Given the description of an element on the screen output the (x, y) to click on. 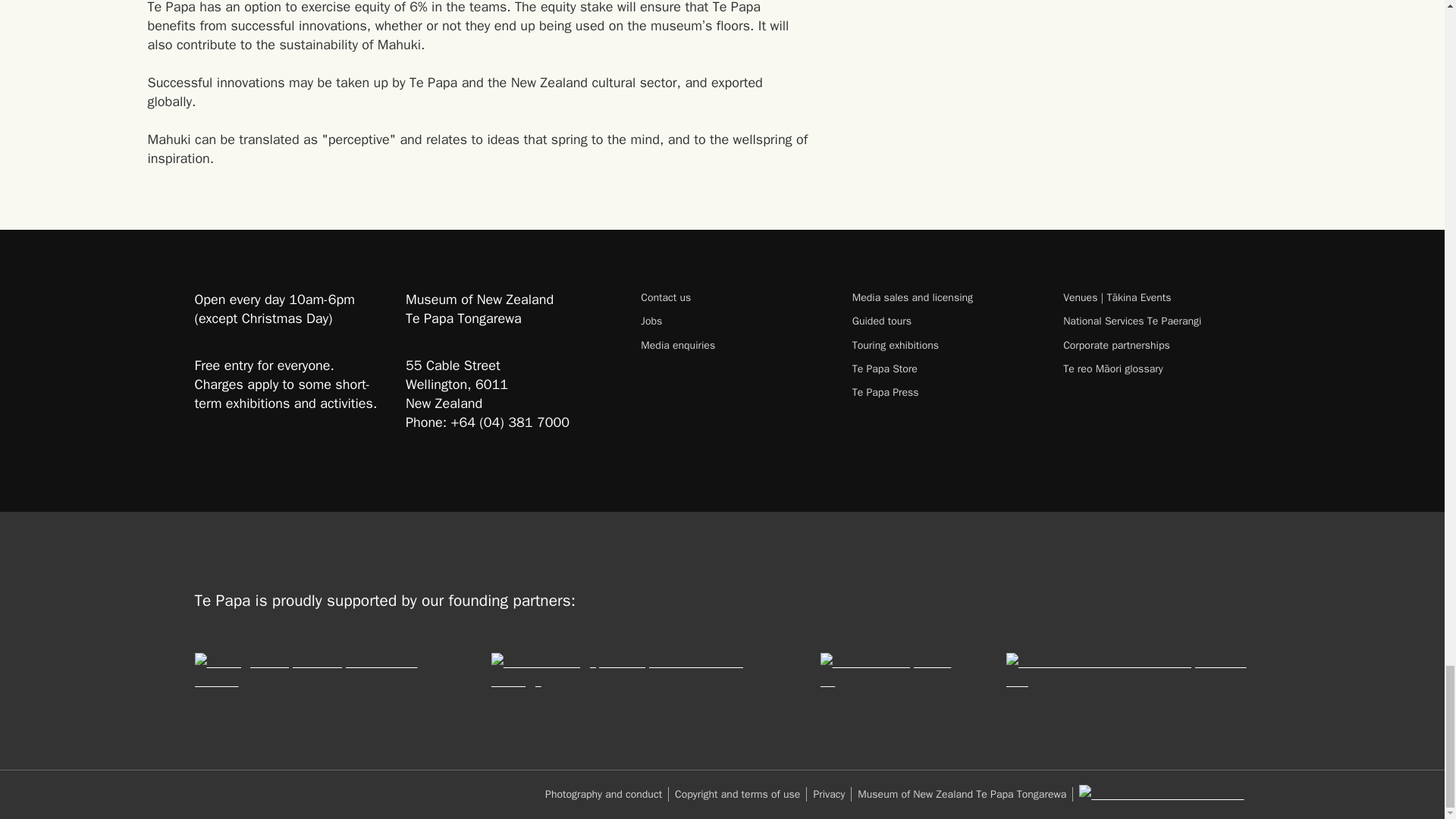
National Services Te Paerangi (1155, 320)
Te Papa Press (945, 391)
Media sales and licensing (945, 297)
Jobs (733, 320)
Museum of New Zealand Te Papa Tongarewa (965, 794)
Guided tours (945, 320)
Te Papa Store (945, 368)
Media enquiries (733, 345)
Corporate partnerships (1155, 345)
Copyright and terms of use (740, 794)
Contact us (733, 297)
Photography and conduct (606, 794)
New Zealand Government (1160, 793)
Privacy (831, 794)
Touring exhibitions (945, 345)
